Given the description of an element on the screen output the (x, y) to click on. 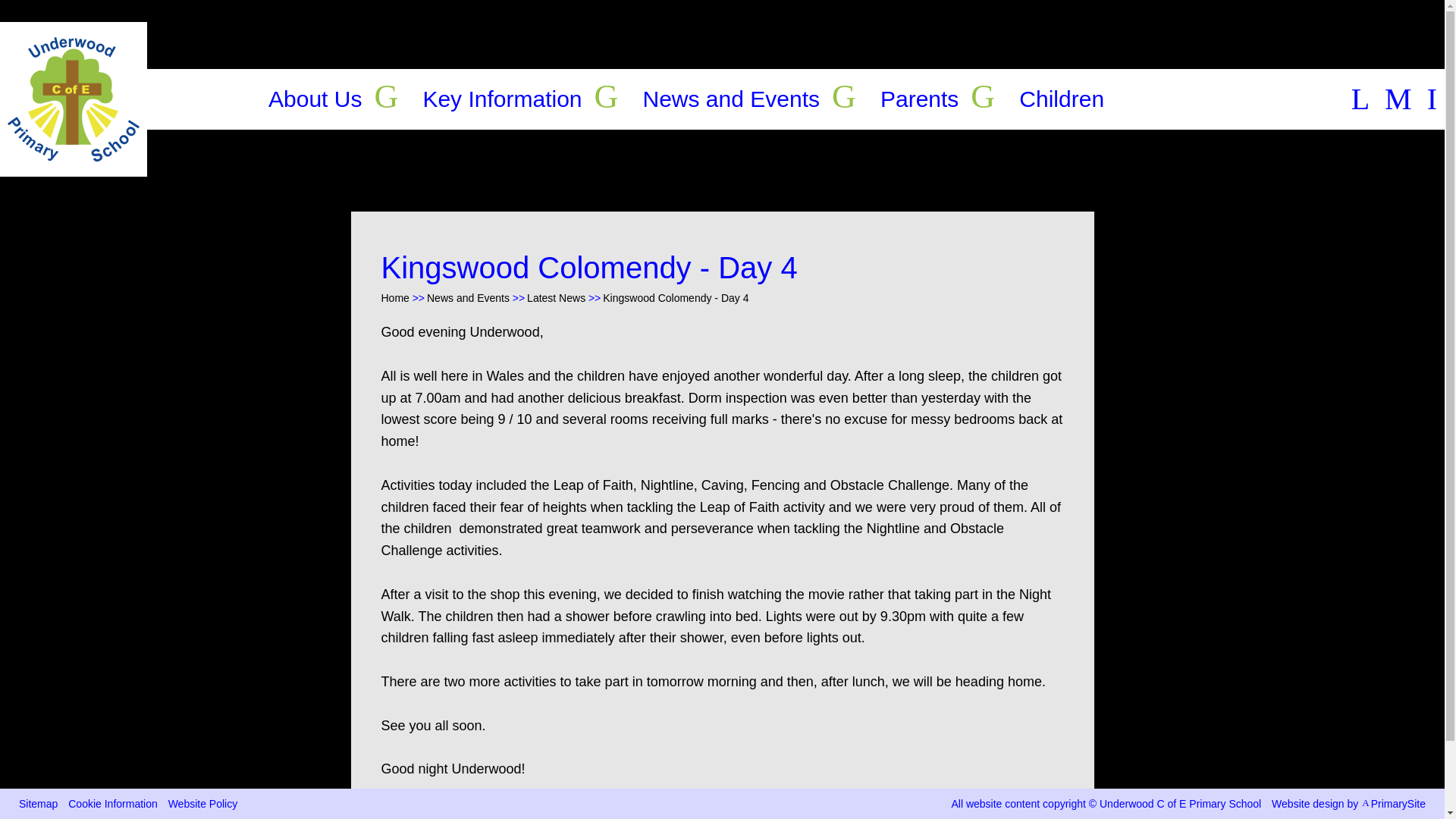
About Us (314, 98)
Key Information (501, 98)
Home Page (73, 99)
